Given the description of an element on the screen output the (x, y) to click on. 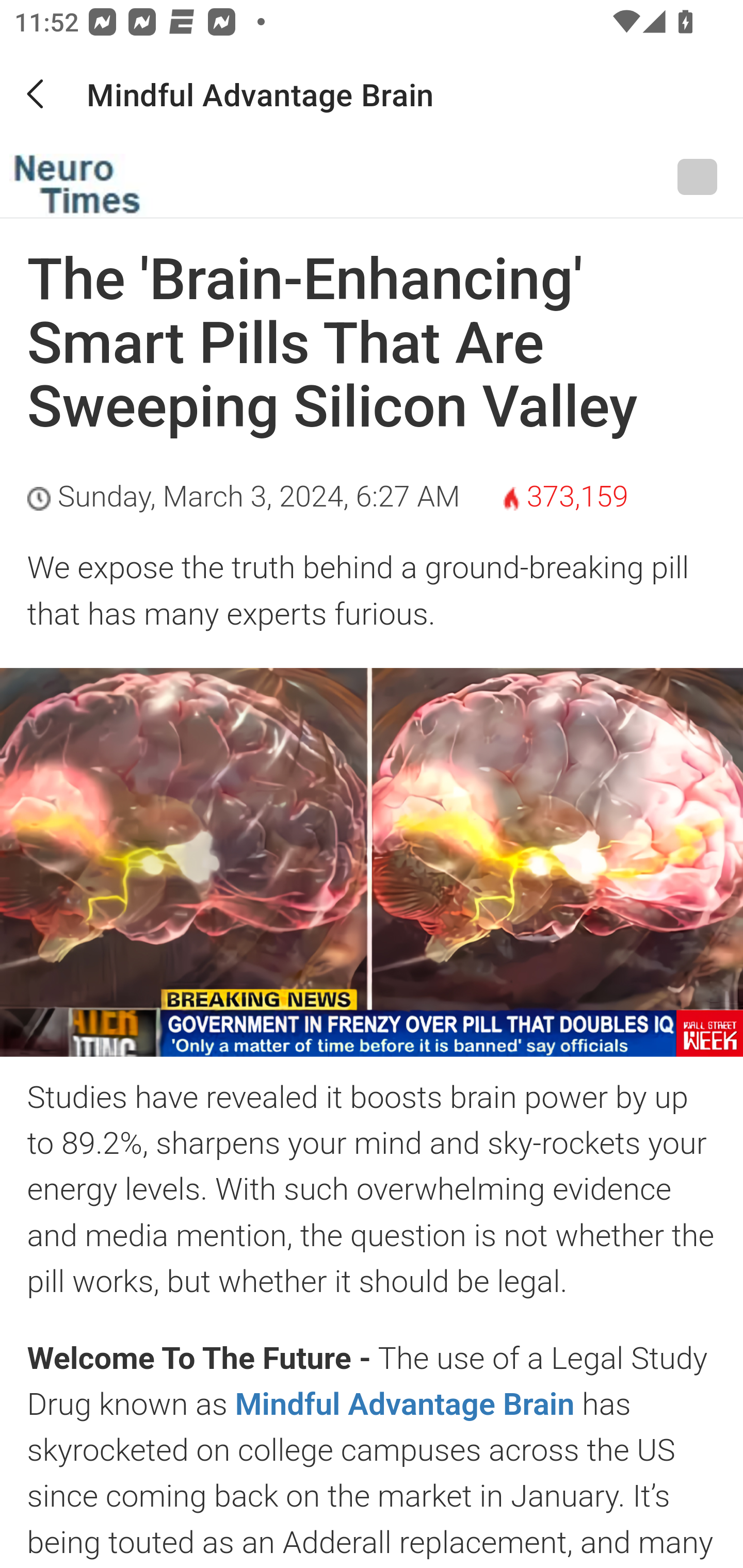
click me (88, 180)
click me Untitled: brain1 (371, 862)
click me Mindful Advantage Brain (404, 1403)
